Given the description of an element on the screen output the (x, y) to click on. 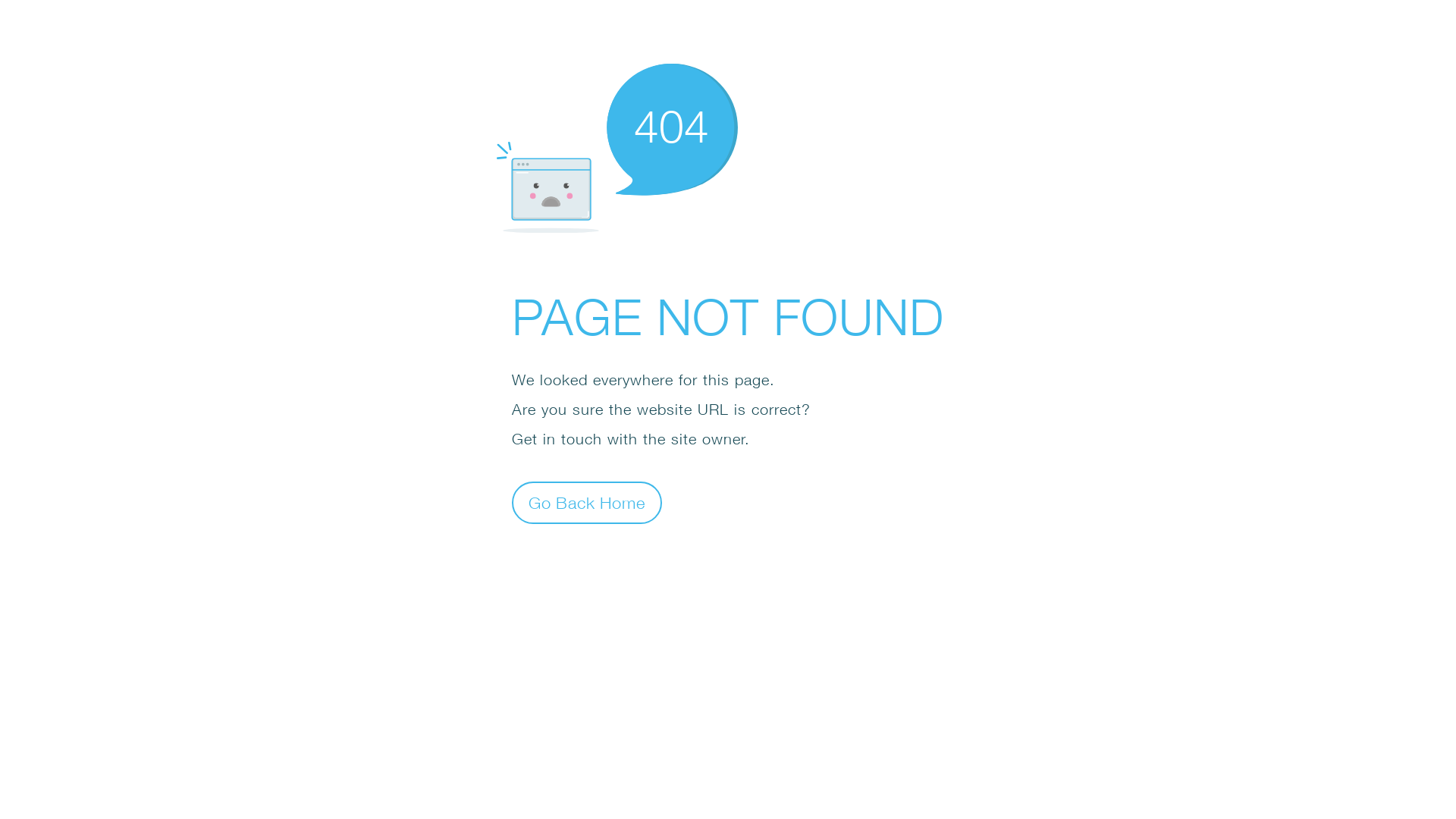
Go Back Home Element type: text (586, 502)
